Given the description of an element on the screen output the (x, y) to click on. 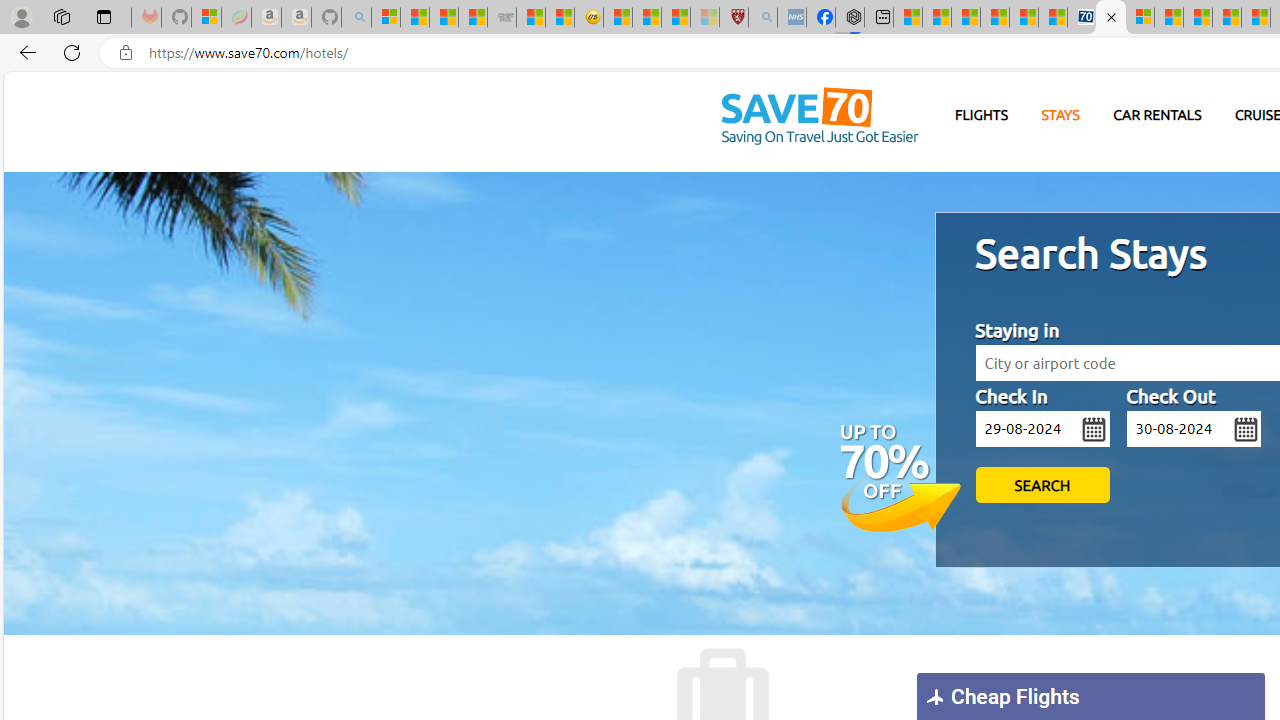
FLIGHTS (981, 115)
FLIGHTS (981, 115)
